Given the description of an element on the screen output the (x, y) to click on. 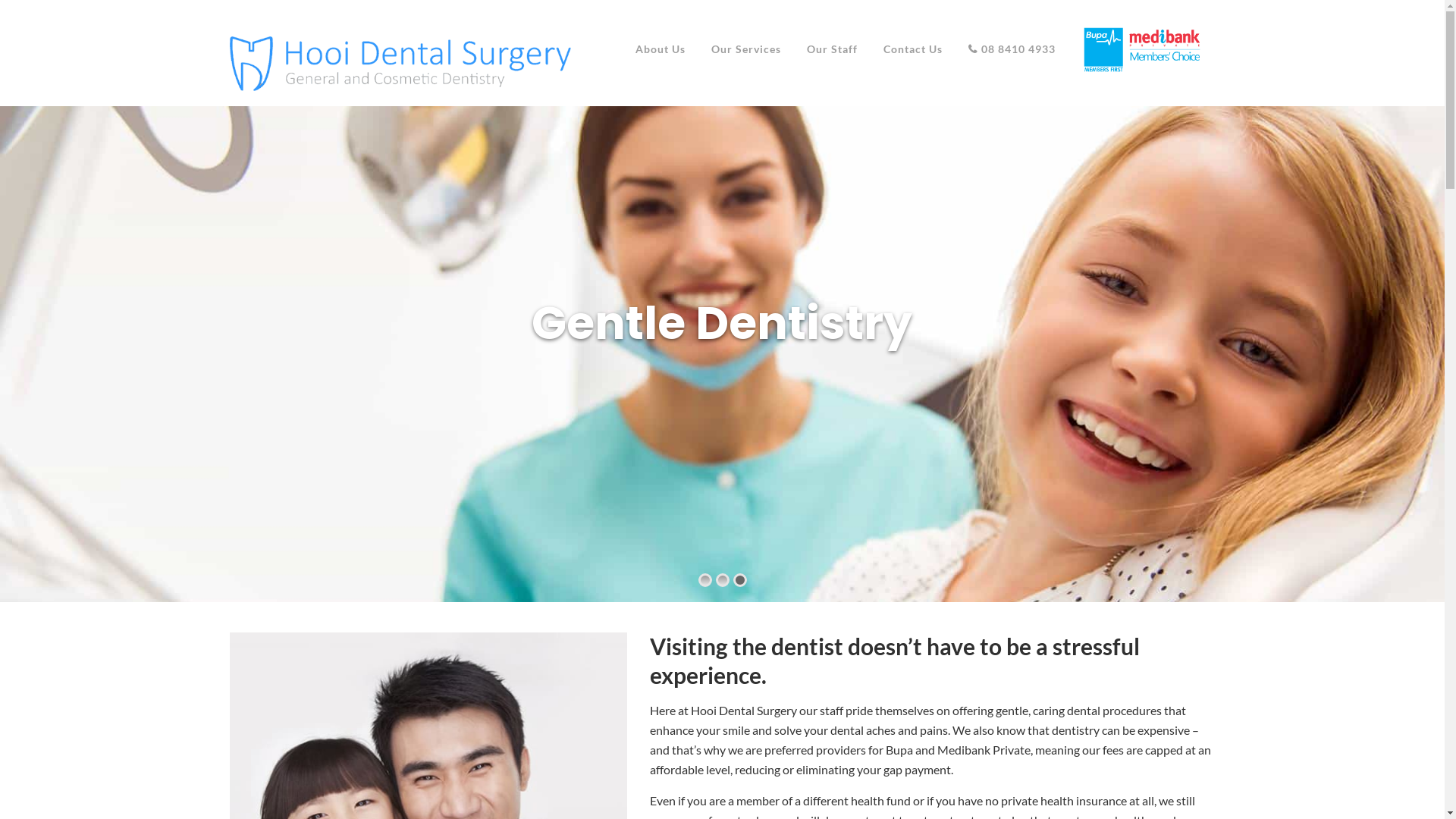
08 8410 4933 Element type: text (1011, 49)
Our Services Element type: text (745, 49)
Our Staff Element type: text (831, 49)
About Us Element type: text (659, 49)
Contact Us Element type: text (912, 49)
